Given the description of an element on the screen output the (x, y) to click on. 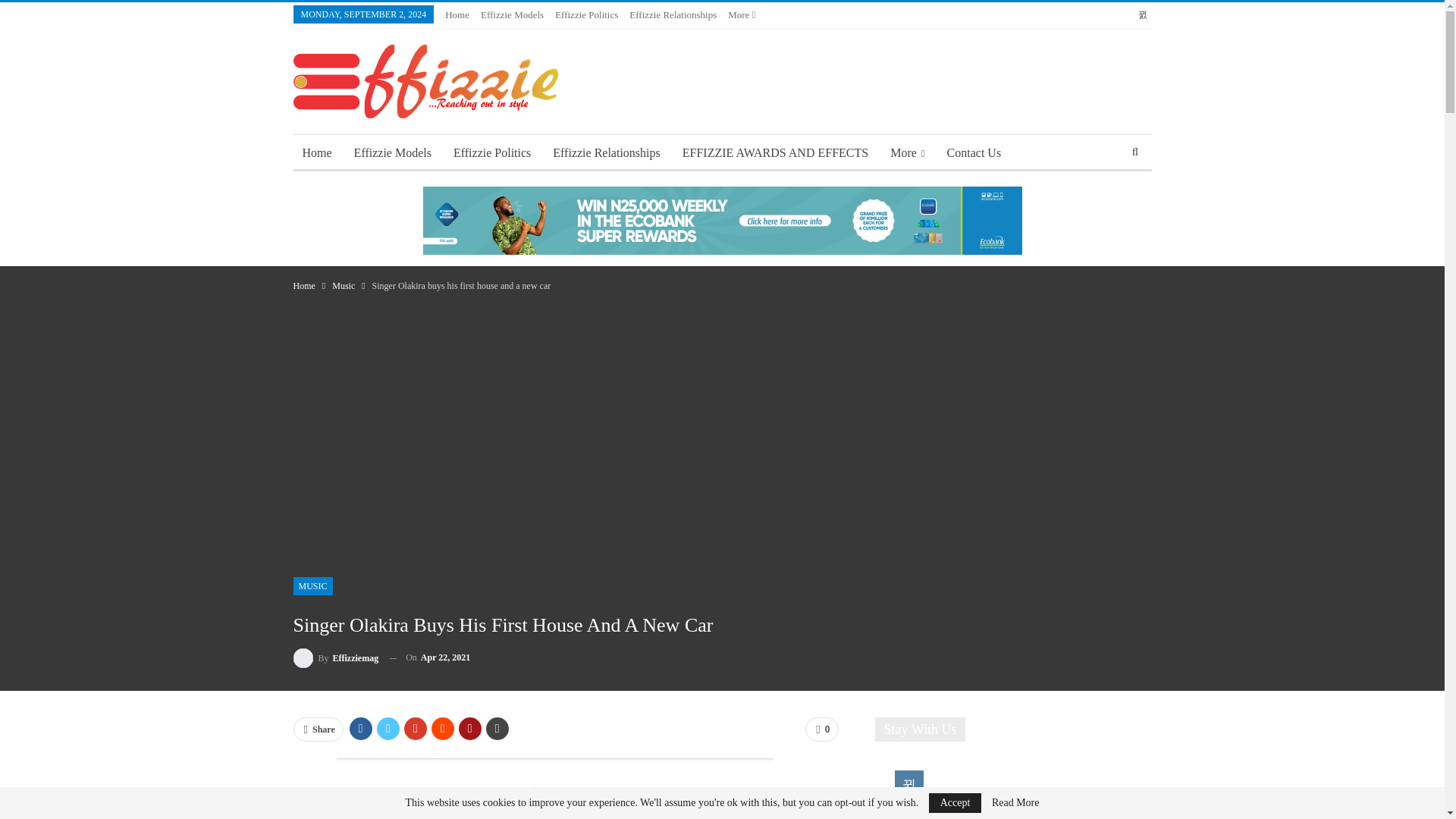
Browse Author Articles (335, 657)
Contact Us (973, 153)
Effizzie Politics (492, 153)
Home (316, 153)
Music (343, 285)
More (741, 14)
By Effizziemag (335, 657)
Effizzie Relationships (605, 153)
EFFIZZIE AWARDS AND EFFECTS (774, 153)
Home (456, 14)
